Given the description of an element on the screen output the (x, y) to click on. 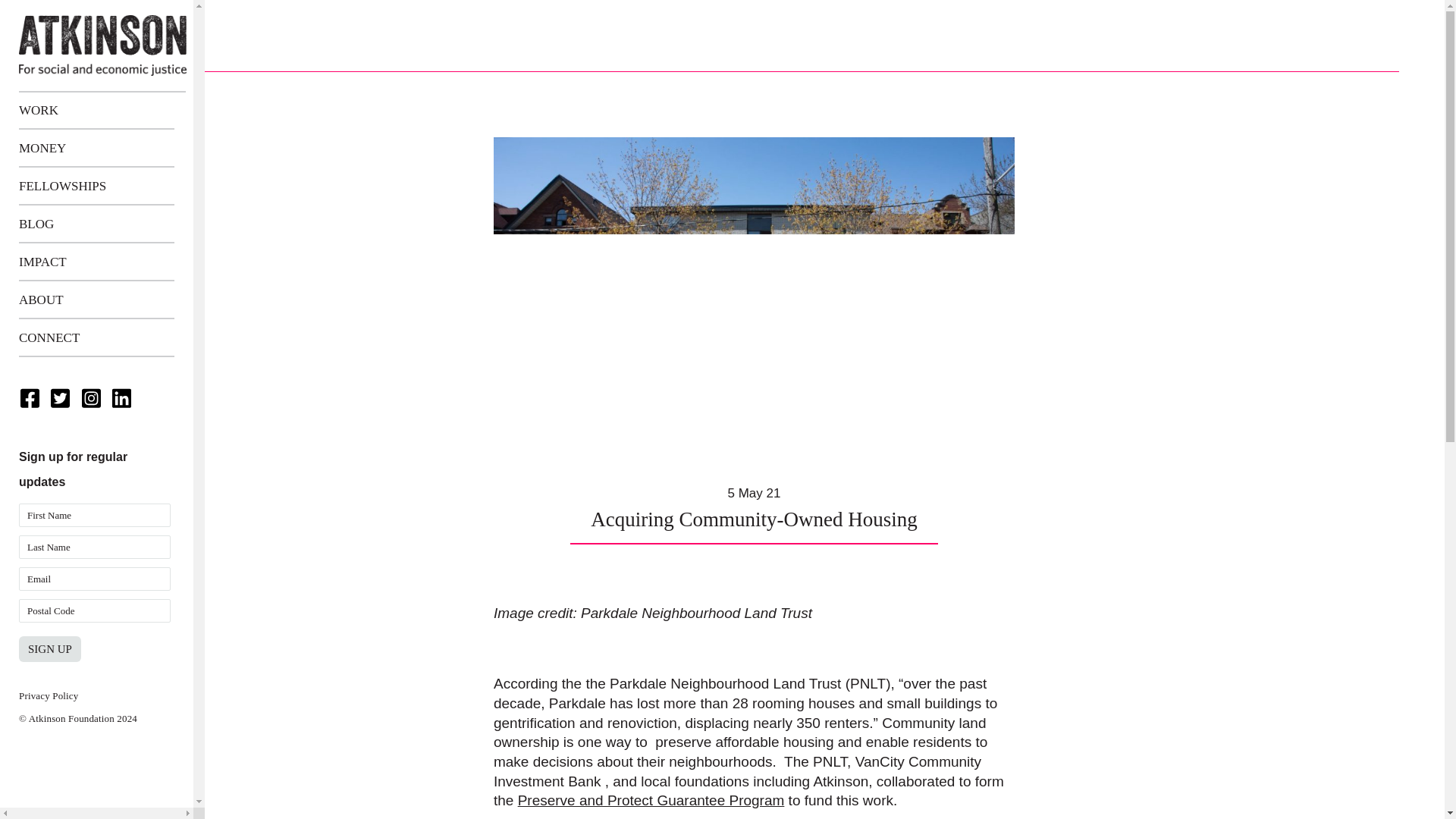
Preserve and Protect Guarantee Program (651, 800)
BLOG (96, 224)
MONEY (96, 148)
WORK (96, 110)
Sign Up (49, 648)
First Name (94, 515)
Email (94, 578)
Email (94, 578)
IMPACT (96, 262)
Postal Code (94, 610)
